Given the description of an element on the screen output the (x, y) to click on. 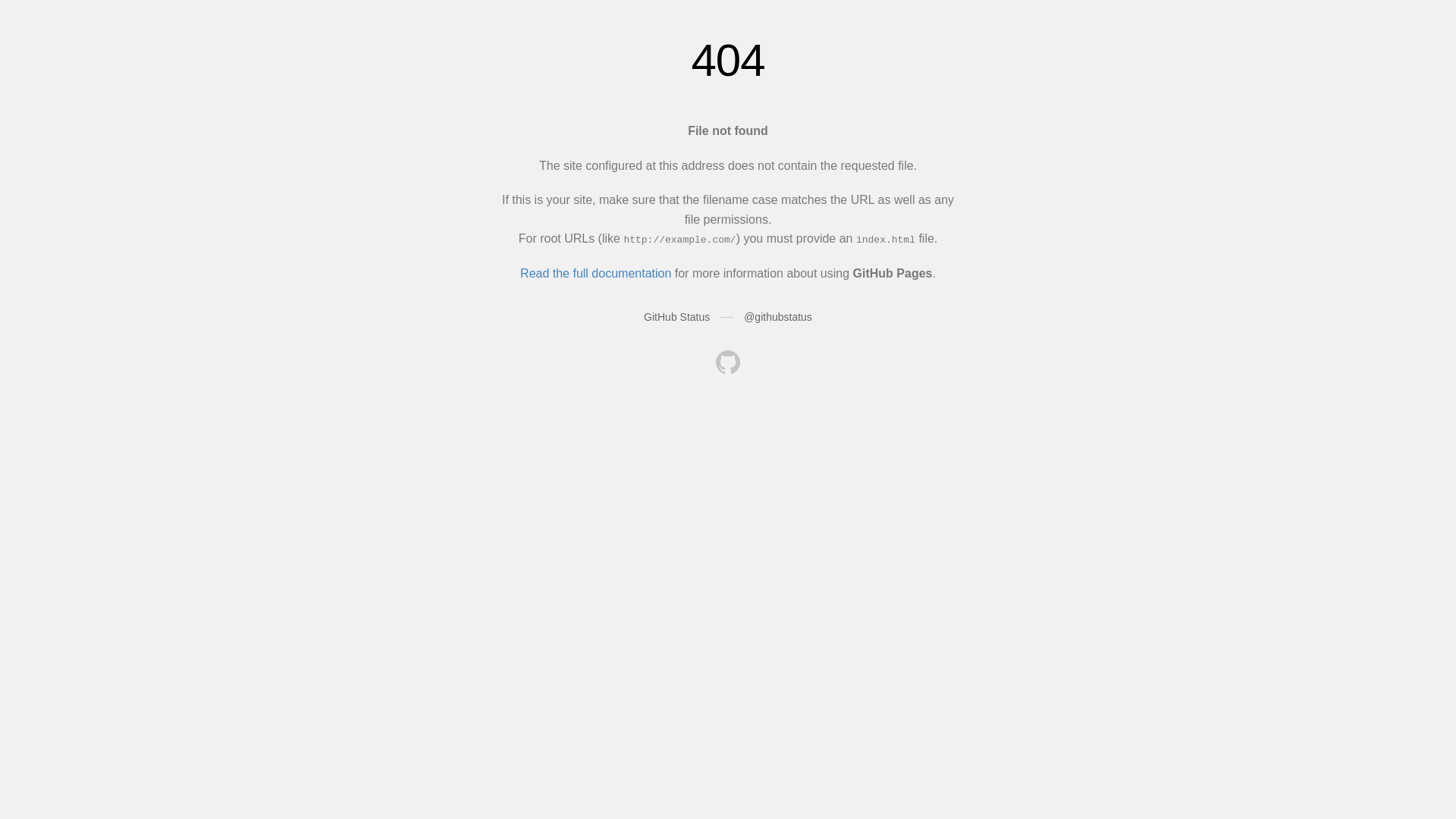
GitHub Status Element type: text (676, 316)
@githubstatus Element type: text (777, 316)
Read the full documentation Element type: text (595, 272)
